Given the description of an element on the screen output the (x, y) to click on. 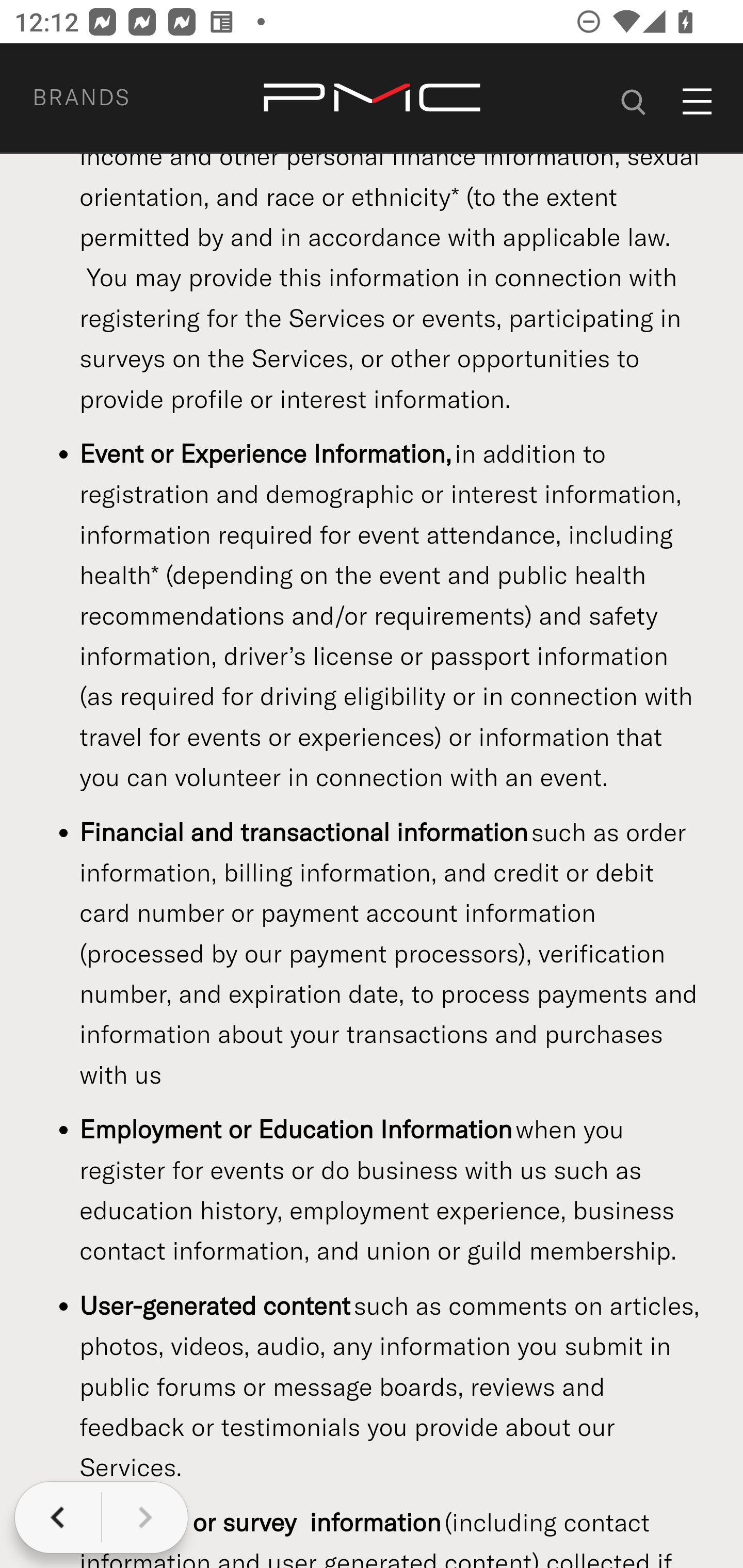
home (371, 98)
BRANDS (105, 99)
privacy-policy# (633, 99)
menu (697, 101)
